Given the description of an element on the screen output the (x, y) to click on. 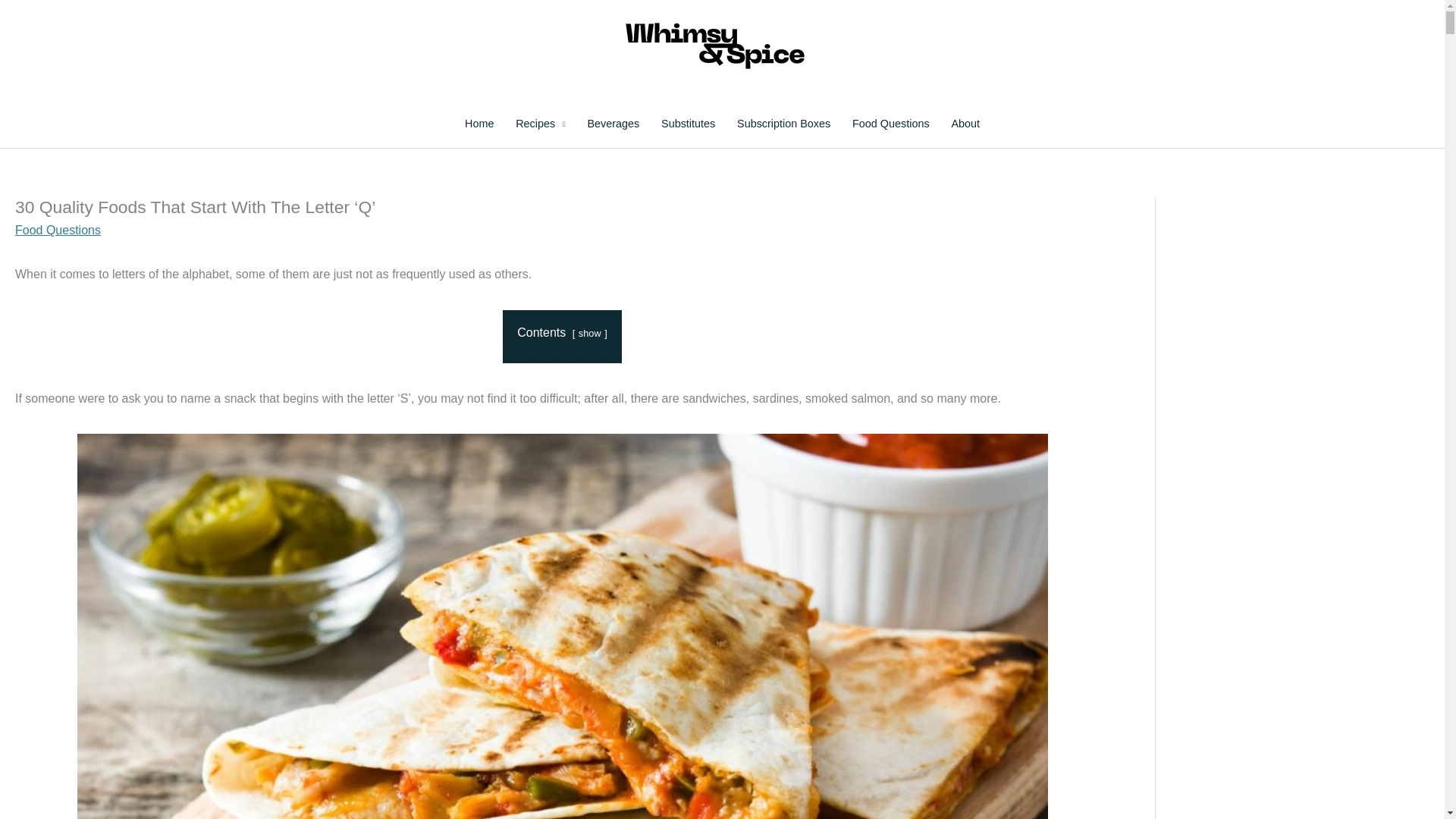
Subscription Boxes (783, 124)
Substitutes (688, 124)
Beverages (613, 124)
Food Questions (890, 124)
Home (479, 124)
show (589, 333)
About (965, 124)
Food Questions (57, 229)
Recipes (540, 124)
